Given the description of an element on the screen output the (x, y) to click on. 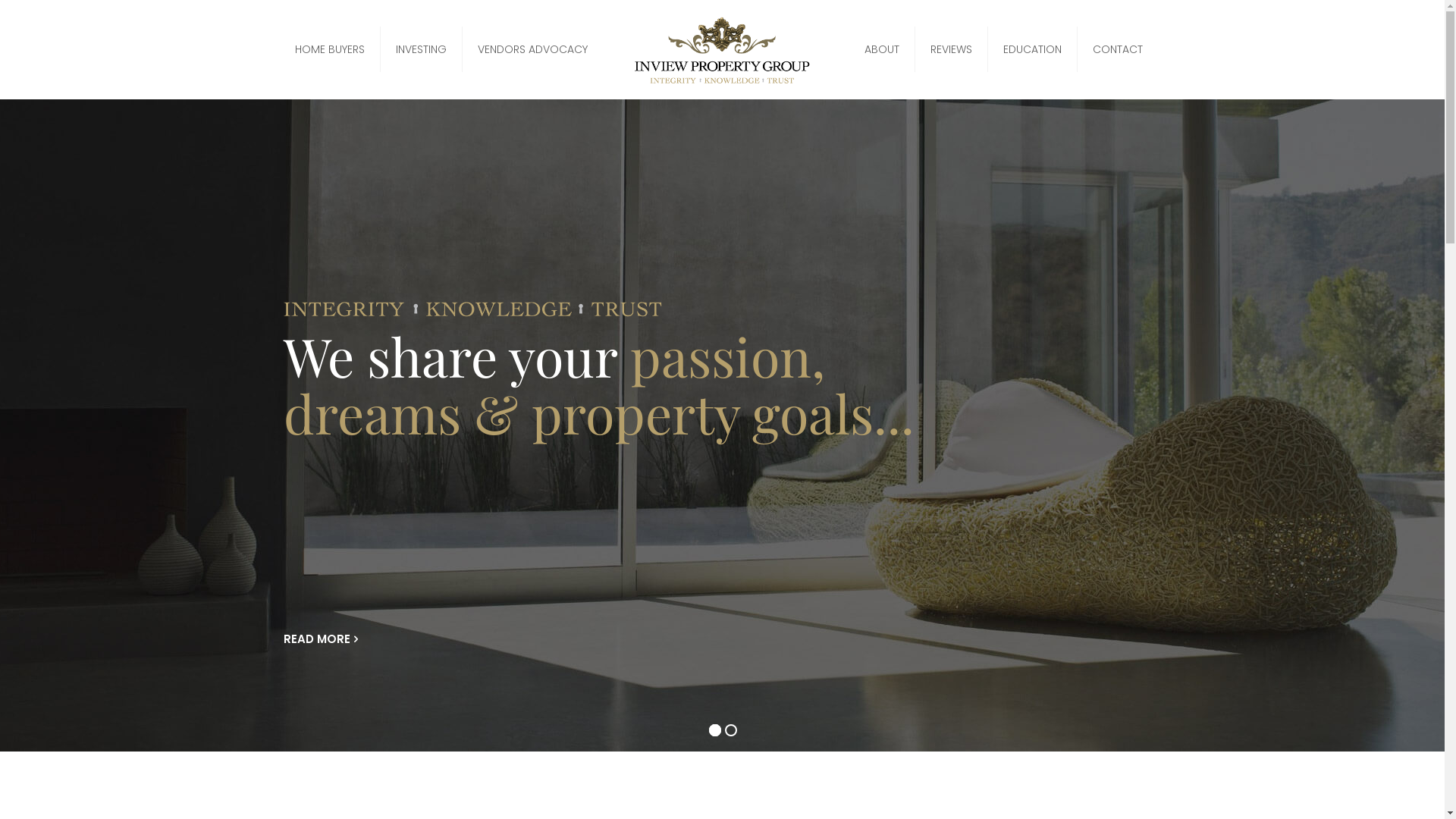
INVIEW PROPERTY GROUP Element type: hover (722, 49)
INVESTING Element type: text (421, 49)
VENDORS ADVOCACY Element type: text (532, 49)
EDUCATION Element type: text (1032, 49)
HOME BUYERS Element type: text (329, 49)
ABOUT Element type: text (882, 49)
REVIEWS Element type: text (951, 49)
CONTACT Element type: text (1117, 49)
